Given the description of an element on the screen output the (x, y) to click on. 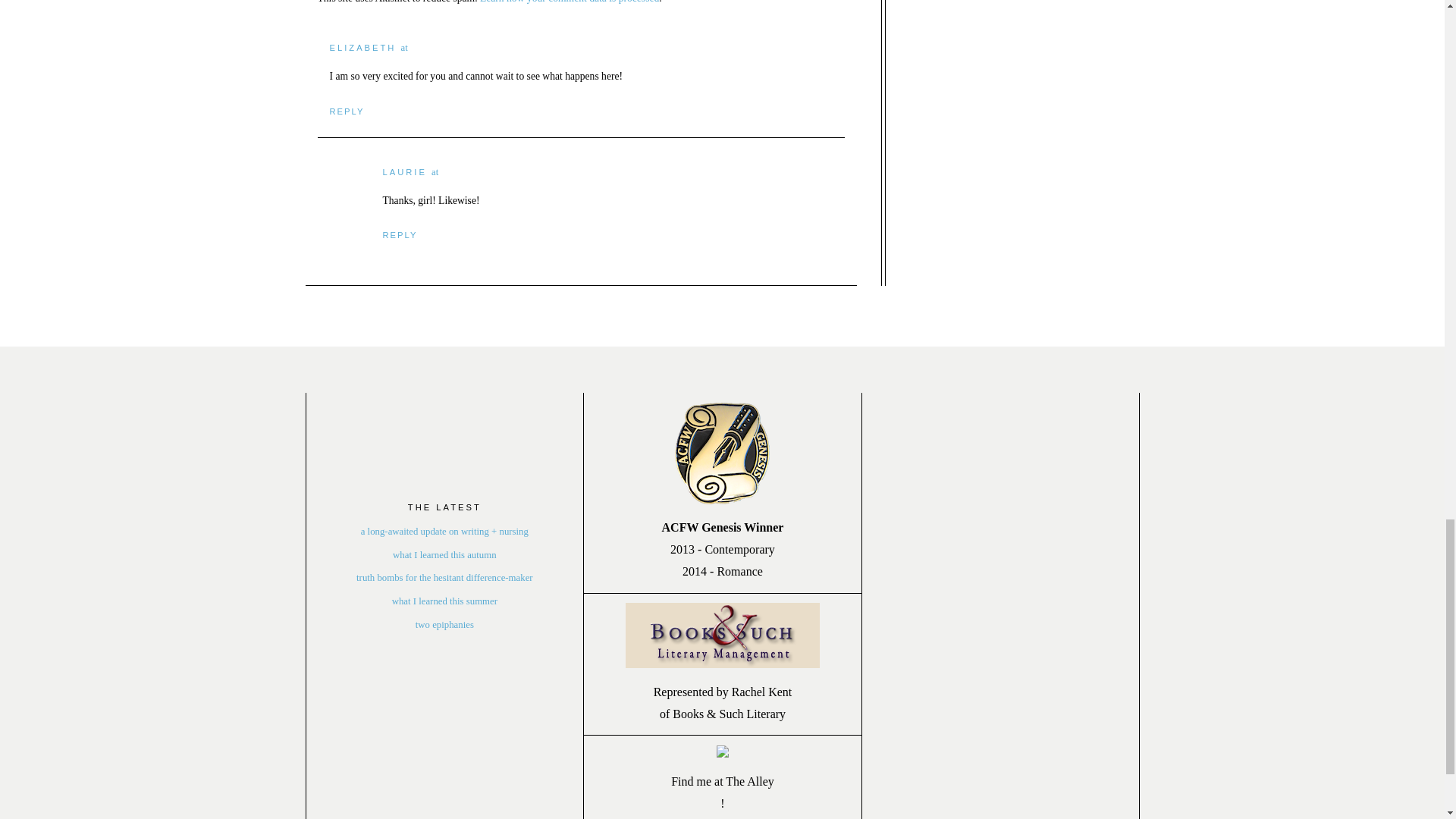
REPLY (398, 234)
at (404, 47)
LAURIE (403, 171)
at (434, 172)
Learn how your comment data is processed (569, 2)
ELIZABETH (362, 47)
REPLY (346, 111)
